Given the description of an element on the screen output the (x, y) to click on. 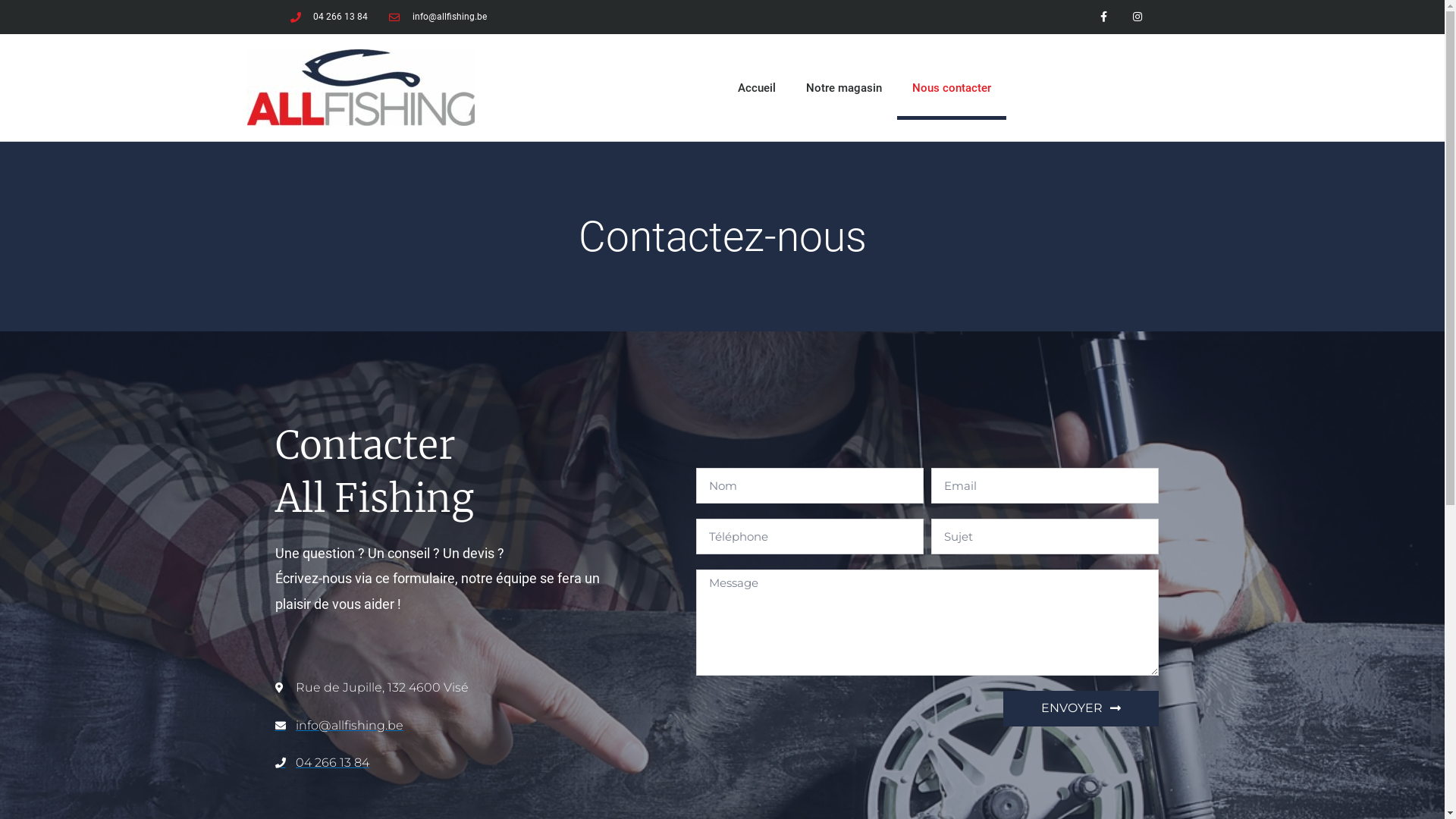
Accueil Element type: text (755, 87)
ENVOYER Element type: text (1079, 707)
Notre magasin Element type: text (843, 87)
04 266 13 84 Element type: text (437, 762)
Nous contacter Element type: text (950, 87)
info@allfishing.be Element type: text (437, 725)
info@allfishing.be Element type: text (437, 16)
04 266 13 84 Element type: text (328, 16)
